Given the description of an element on the screen output the (x, y) to click on. 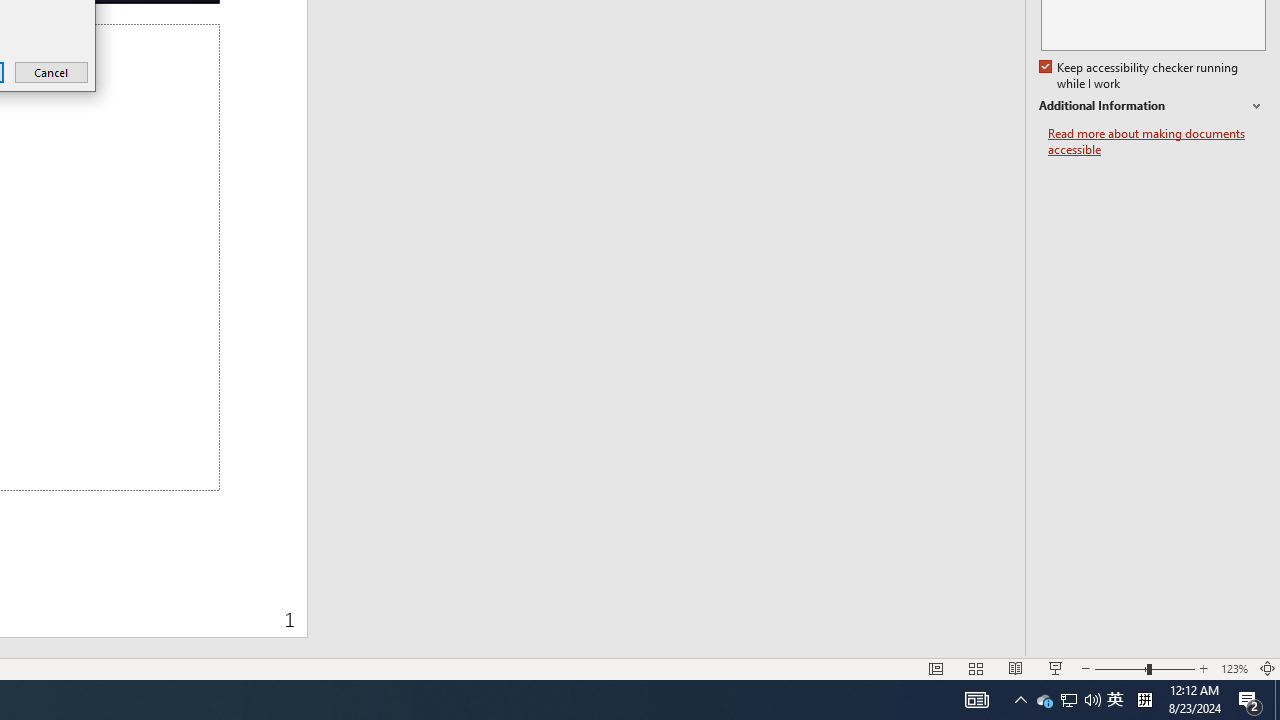
Cancel (51, 72)
Zoom 123% (1234, 668)
